Given the description of an element on the screen output the (x, y) to click on. 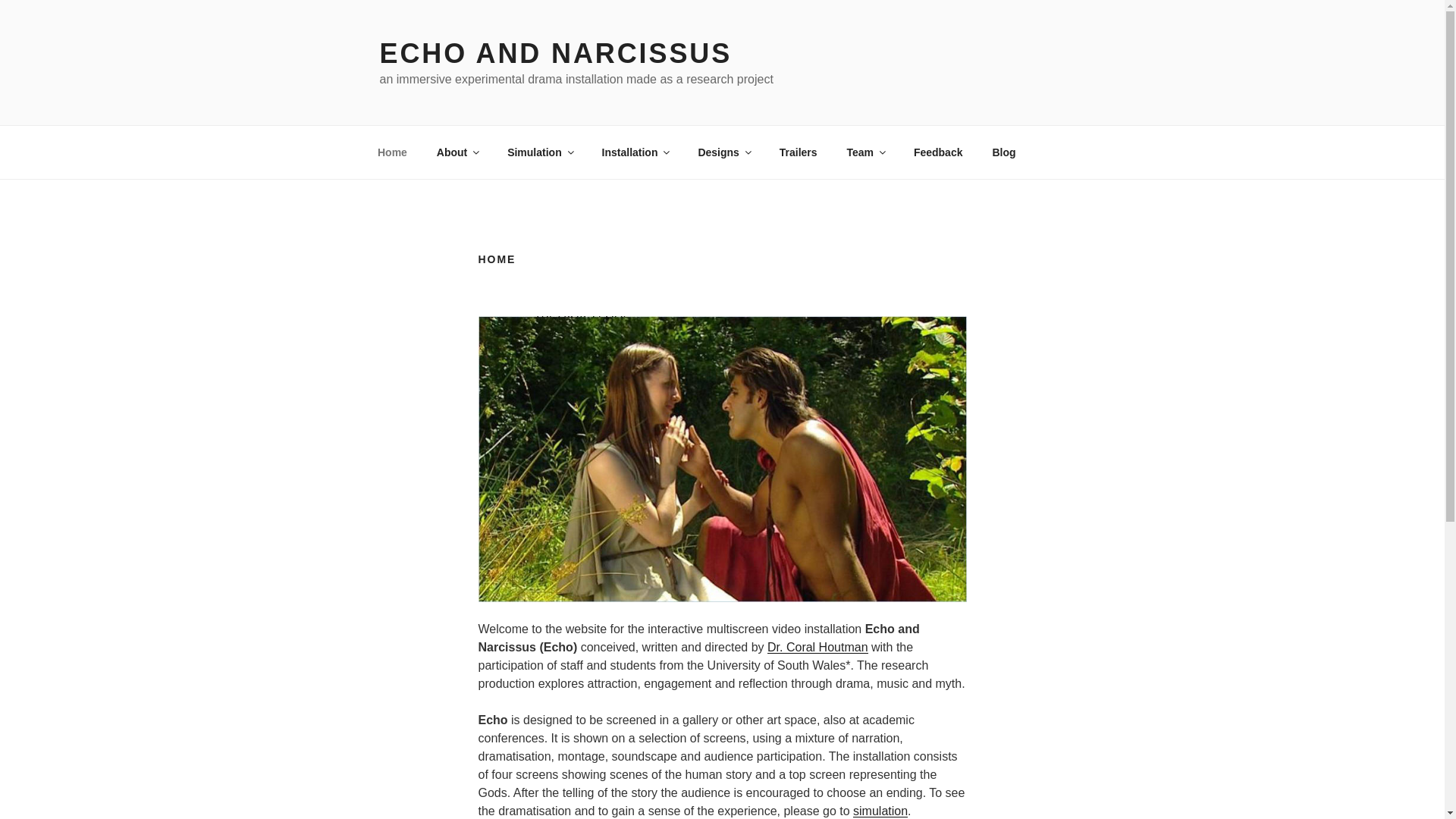
Home (392, 151)
About (456, 151)
Simulation (540, 151)
Blog (1003, 151)
Dr. Coral Houtman (817, 646)
Designs (723, 151)
Team (865, 151)
simulation (880, 810)
Trailers (797, 151)
ECHO AND NARCISSUS (555, 52)
Feedback (937, 151)
Installation (634, 151)
